Given the description of an element on the screen output the (x, y) to click on. 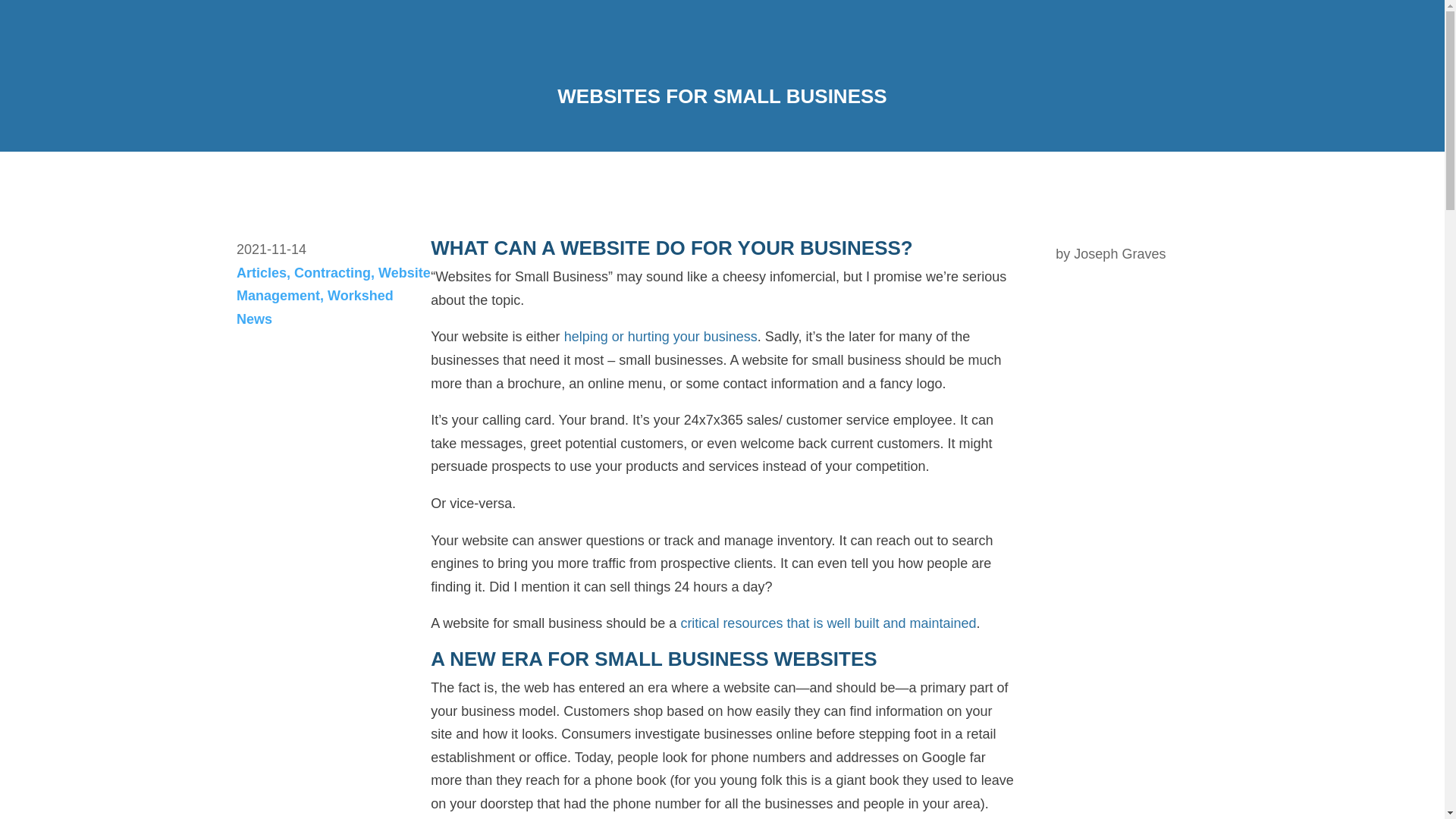
Contracting (332, 272)
Articles (260, 272)
helping or hurting your business (660, 336)
Website Management (332, 284)
Workshed News (314, 307)
critical resources that is well built and maintained (827, 622)
Posts by Joseph Graves (1120, 253)
Joseph Graves (1120, 253)
